Given the description of an element on the screen output the (x, y) to click on. 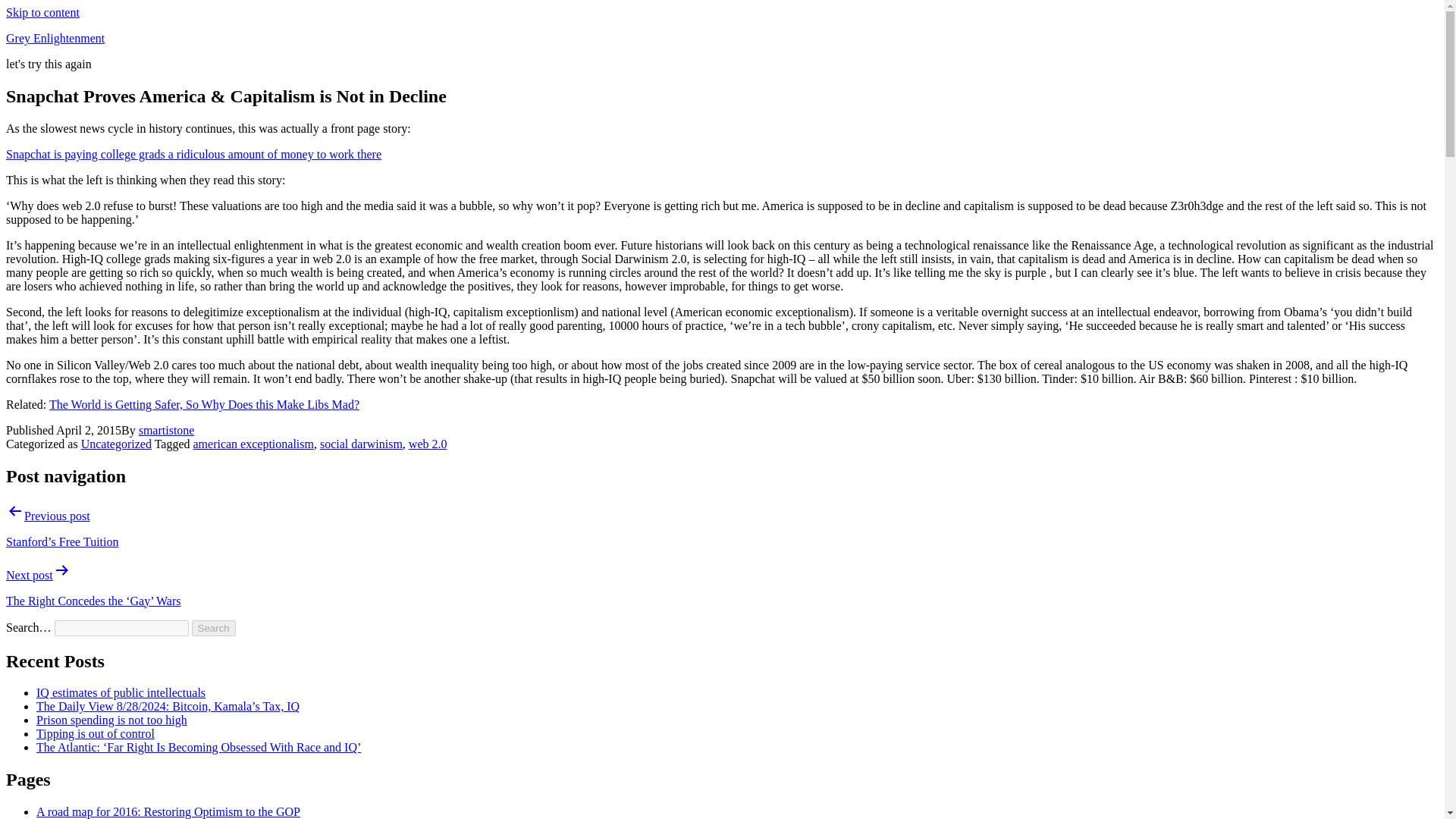
Tipping is out of control (95, 733)
A road map for 2016: Restoring Optimism to the GOP (167, 811)
Search (213, 627)
Search (213, 627)
Search (213, 627)
IQ estimates of public intellectuals (120, 692)
american exceptionalism (252, 443)
web 2.0 (427, 443)
The World is Getting Safer, So Why Does this Make Libs Mad? (204, 404)
social darwinism (361, 443)
